Given the description of an element on the screen output the (x, y) to click on. 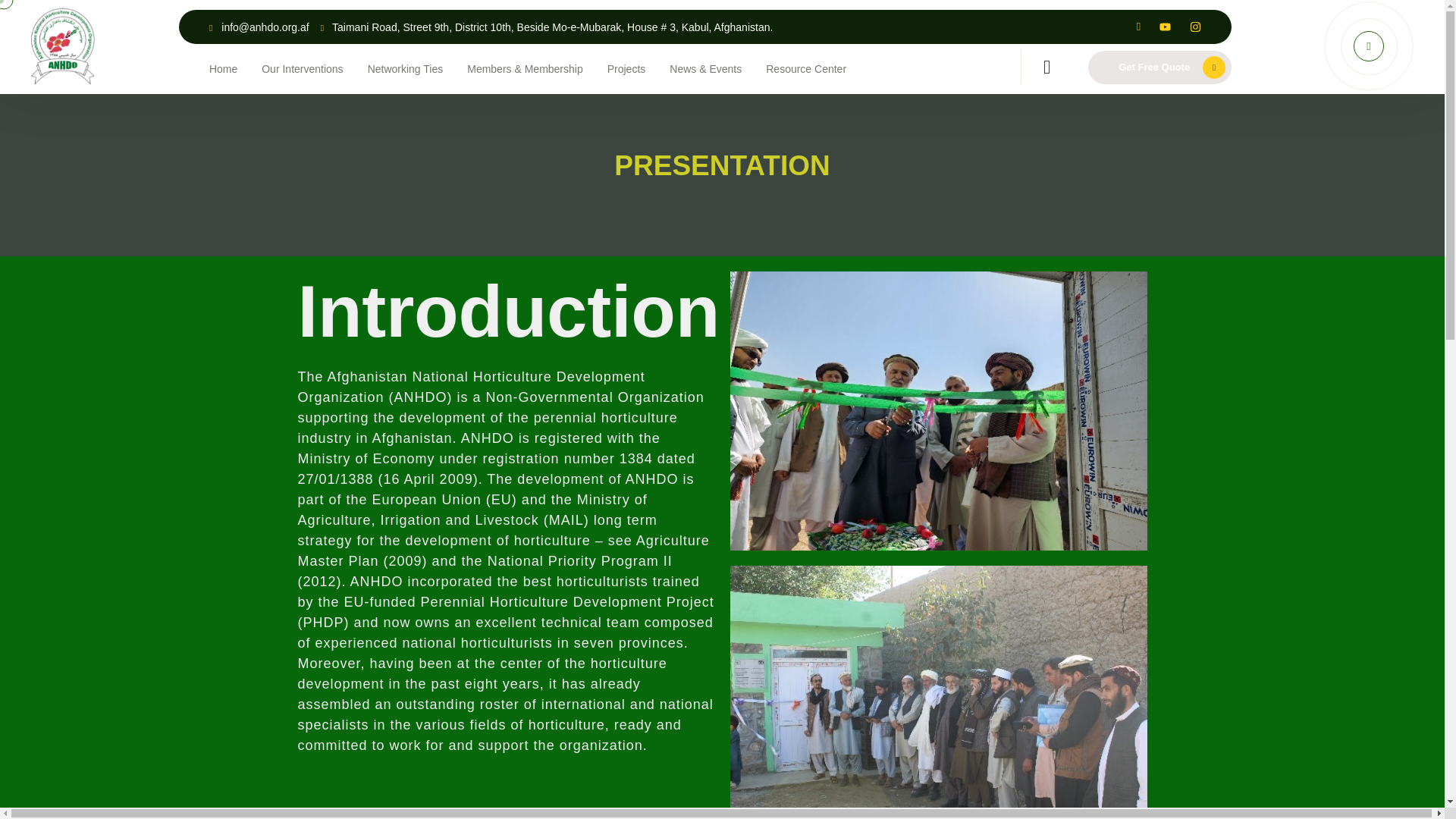
Networking Ties (406, 68)
Projects (626, 68)
Home (223, 68)
Our Interventions (302, 68)
